Given the description of an element on the screen output the (x, y) to click on. 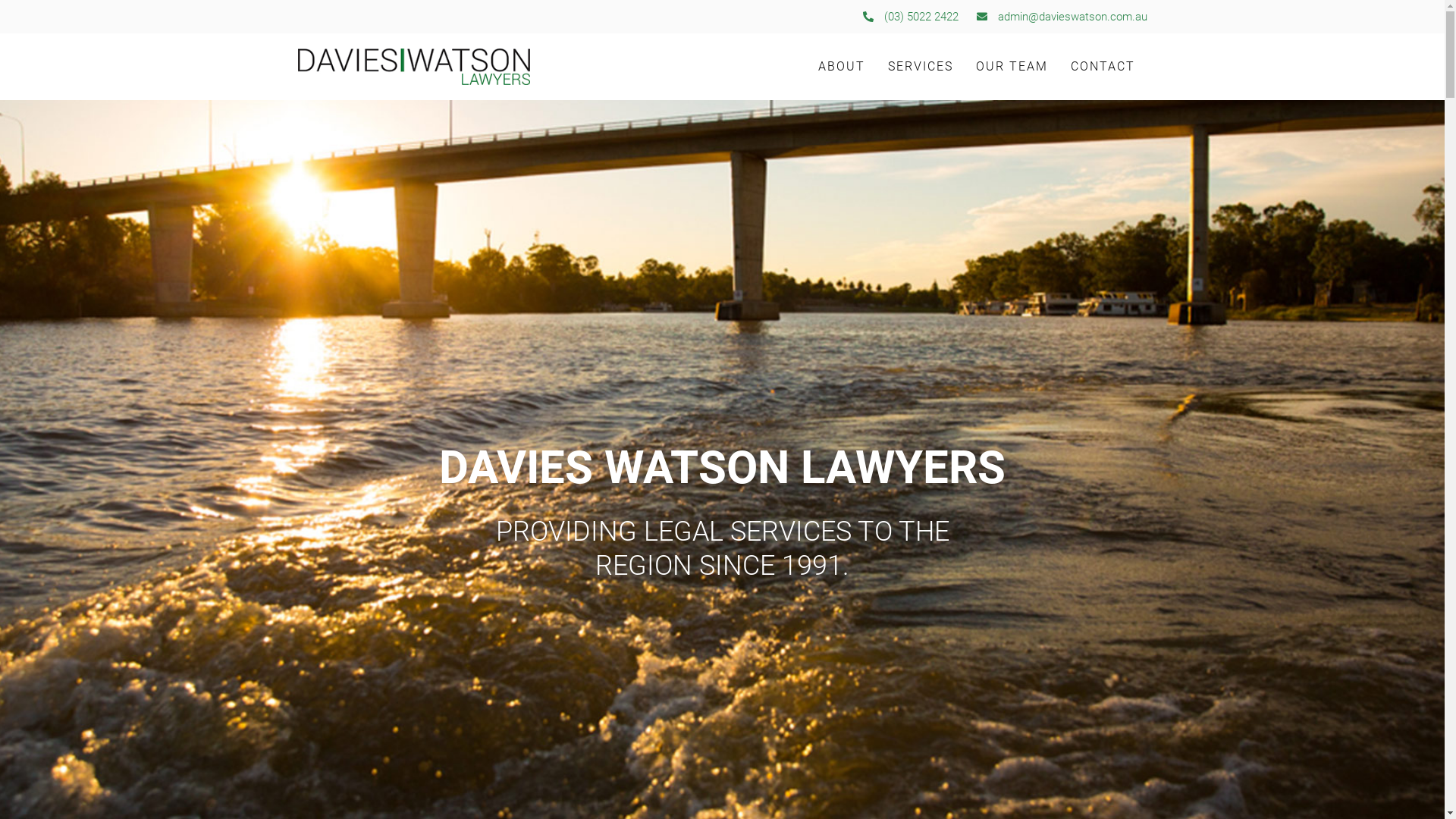
OUR TEAM Element type: text (1011, 66)
admin@davieswatson.com.au Element type: text (1060, 16)
SERVICES Element type: text (920, 66)
ABOUT Element type: text (841, 66)
CONTACT Element type: text (1102, 66)
(03) 5022 2422 Element type: text (908, 16)
